Given the description of an element on the screen output the (x, y) to click on. 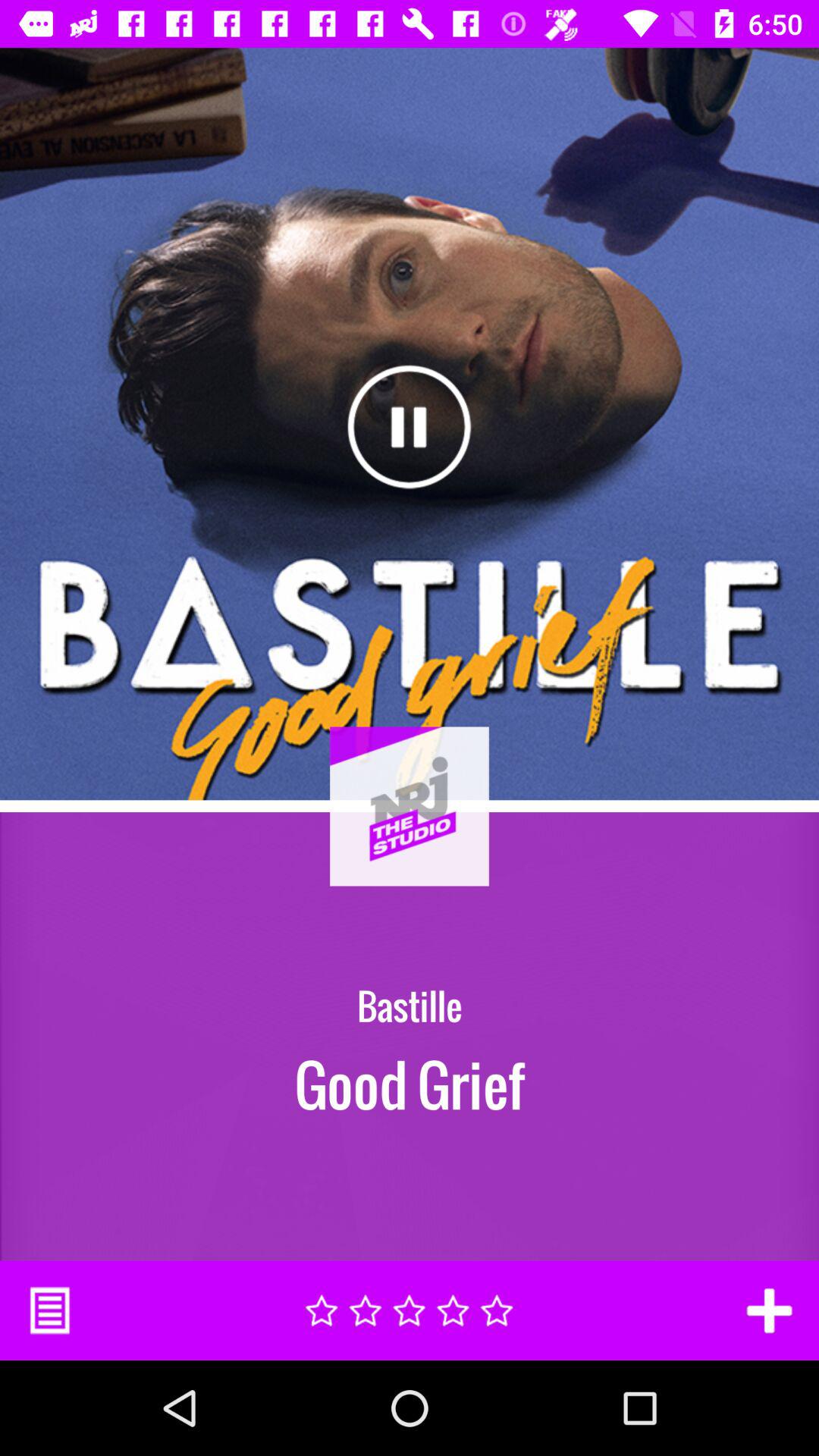
choose the item at the bottom right corner (769, 1310)
